Given the description of an element on the screen output the (x, y) to click on. 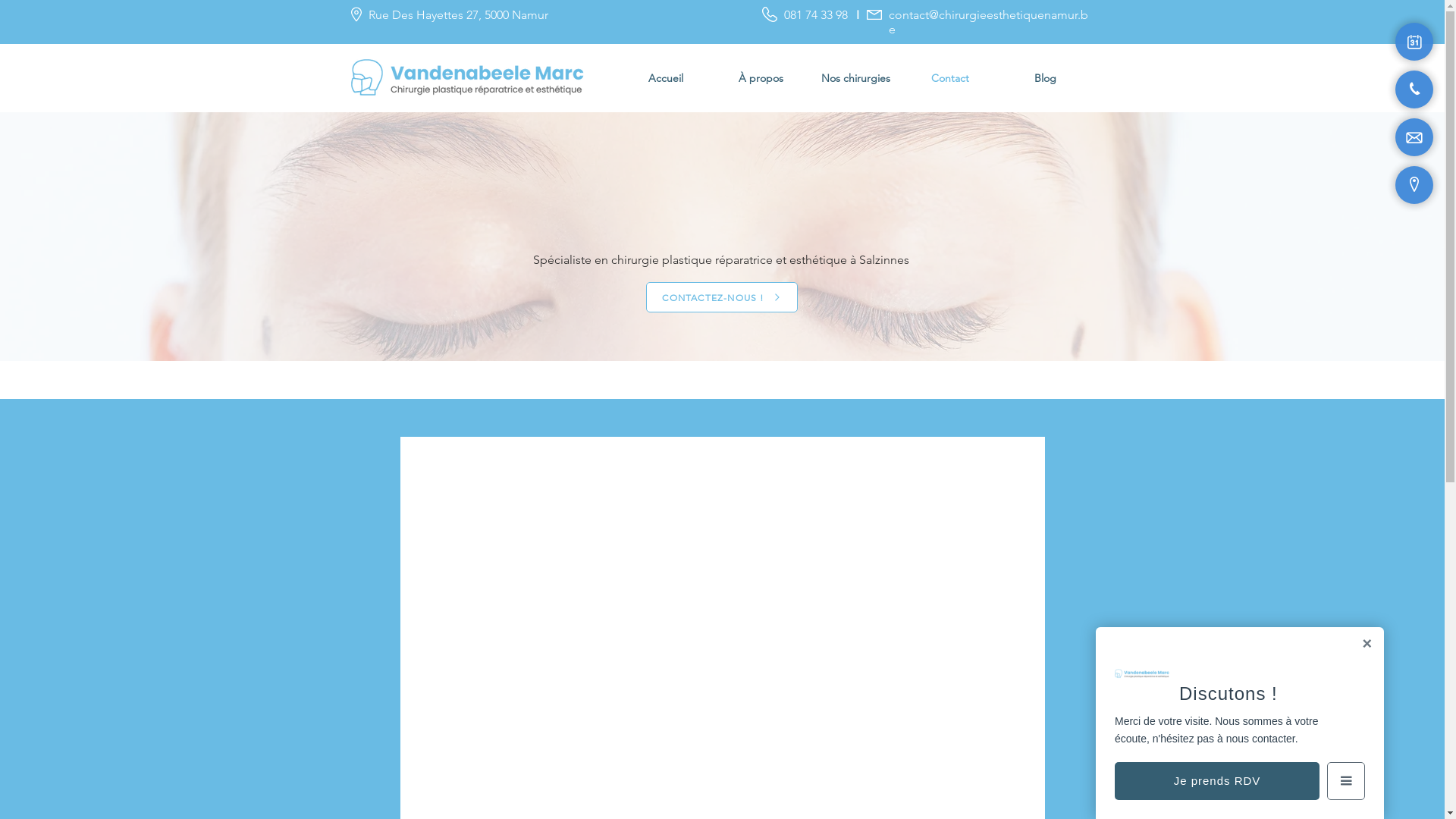
Contact Element type: text (949, 78)
CONTACTEZ-NOUS ! Element type: text (721, 297)
081 74 33 98 Element type: text (815, 14)
contact@chirurgieesthetiquenamur.be Element type: text (988, 21)
Blog Element type: text (1044, 78)
Je prends RDV Element type: text (1216, 781)
Accueil Element type: text (664, 78)
